Given the description of an element on the screen output the (x, y) to click on. 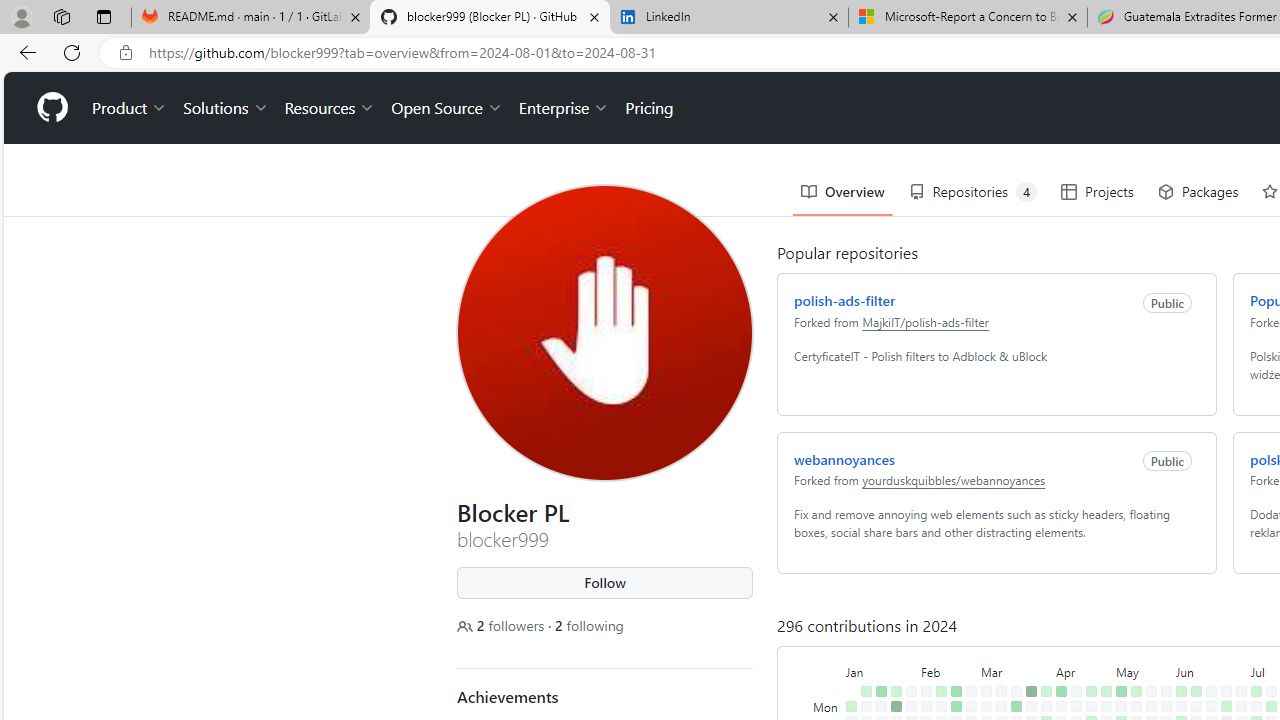
Homepage (51, 107)
1 contribution on June 24th. (1226, 706)
5 contributions on March 18th. (1016, 706)
No contributions on March 3rd. (986, 691)
LinkedIn (729, 17)
Solutions (225, 107)
View blocker999's full-sized avatar (604, 332)
No contributions on January 28th. (911, 691)
Monday (827, 706)
6 contributions on May 5th. (1121, 691)
No contributions on April 22nd. (1090, 706)
3 contributions on January 7th. (866, 691)
1 contribution on February 11th. (941, 691)
